Given the description of an element on the screen output the (x, y) to click on. 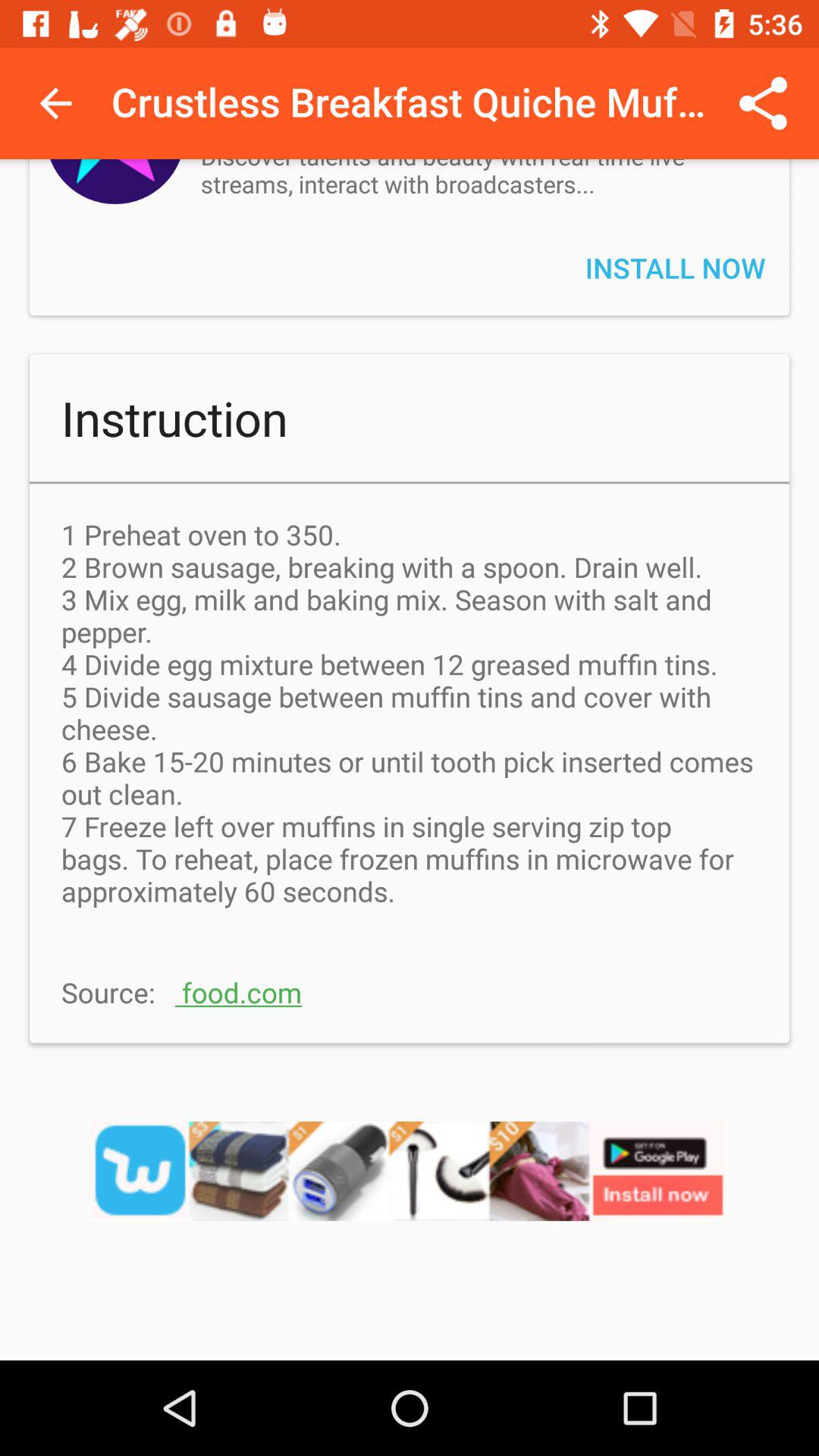
go to advertisement (409, 1190)
